Given the description of an element on the screen output the (x, y) to click on. 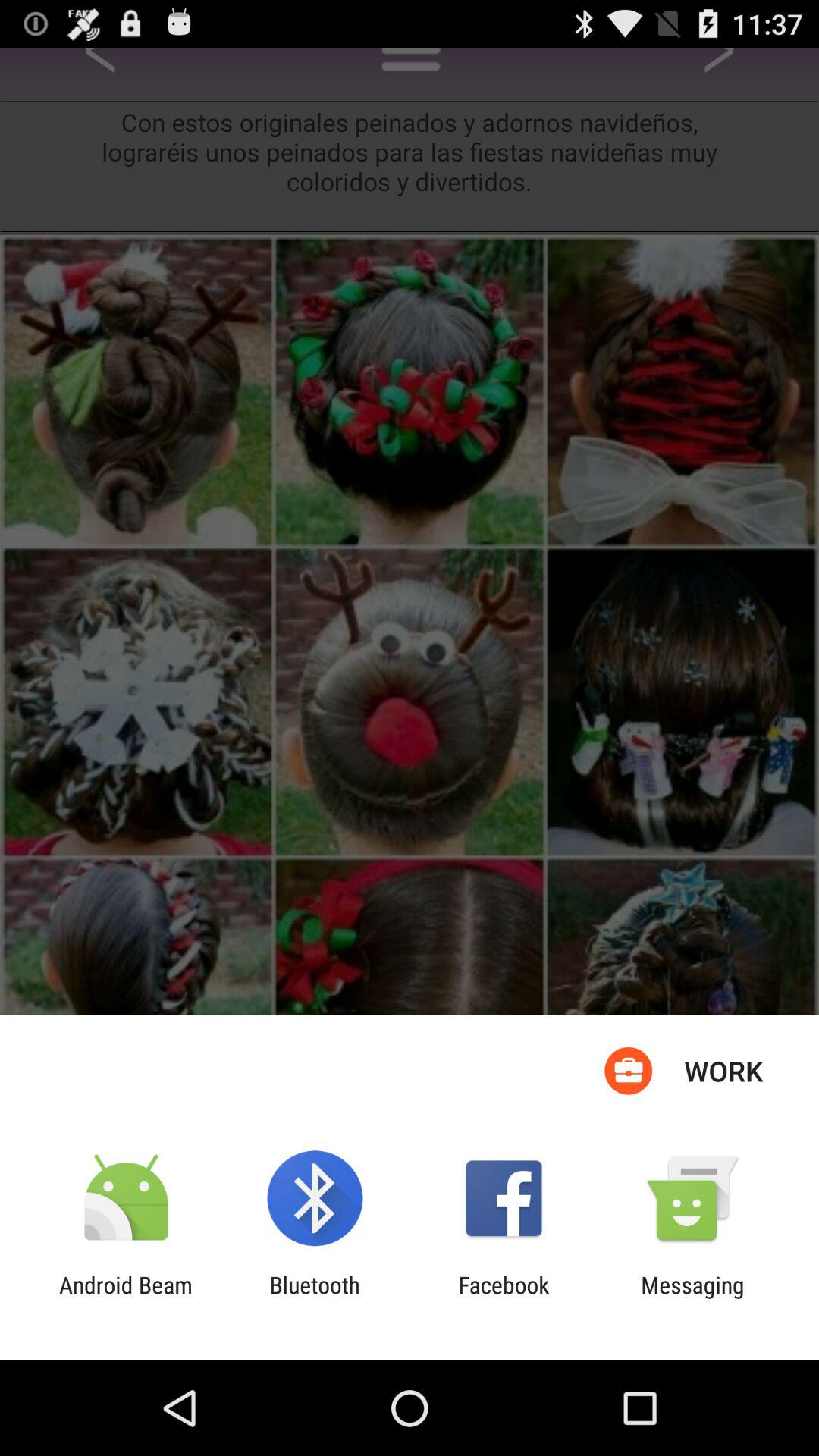
open item next to the bluetooth item (503, 1298)
